Given the description of an element on the screen output the (x, y) to click on. 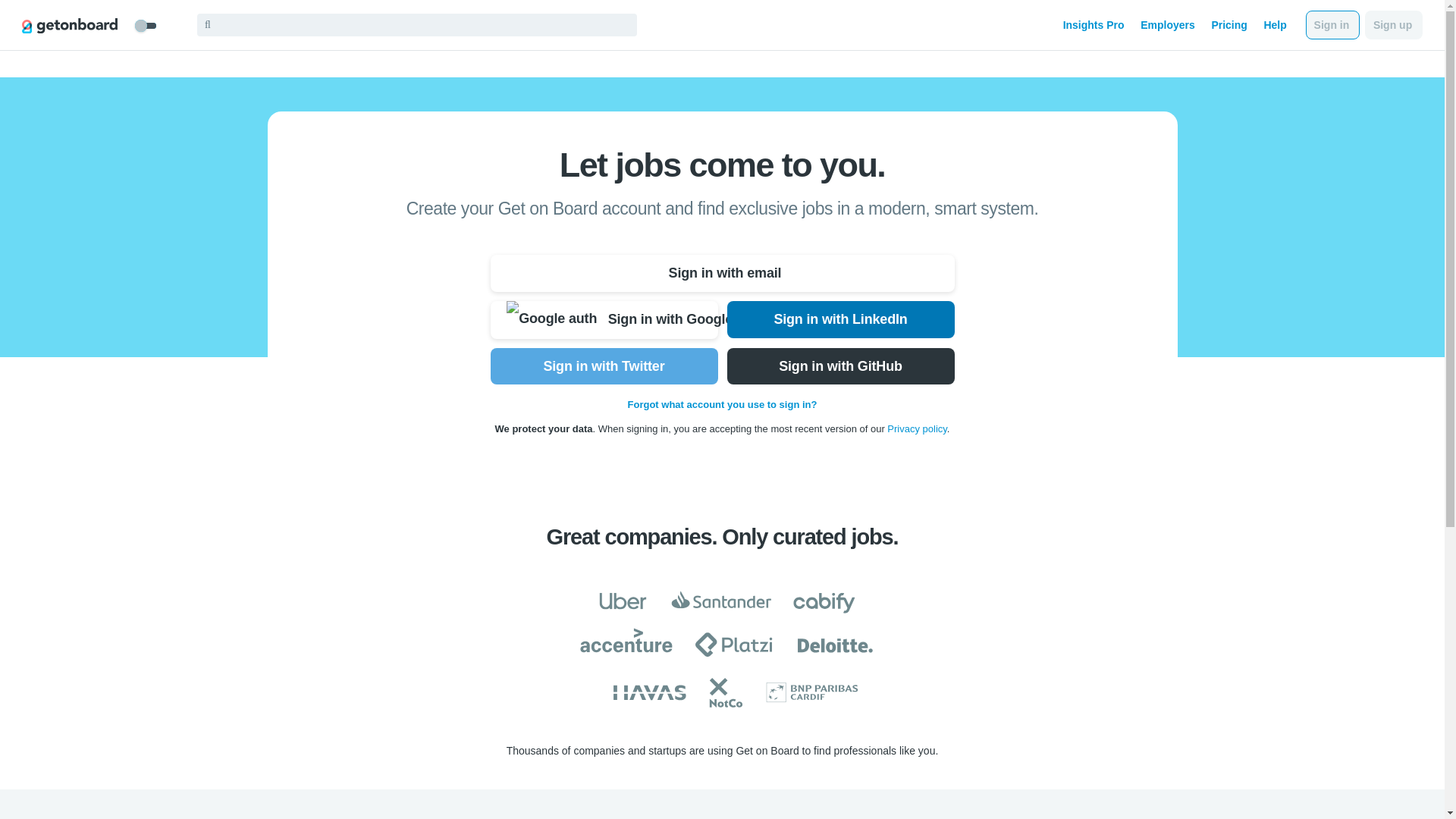
Sign in (1332, 24)
Sign in with LinkedIn (839, 319)
Help (1274, 24)
Sign in with GitHub (839, 366)
  Sign in with Google (603, 320)
Forgot what account you use to sign in? (721, 404)
Sign in with email (721, 272)
Privacy policy (916, 428)
Sign up (1393, 24)
Sign in with Twitter (603, 366)
Insights Pro (1093, 24)
Employers (1167, 24)
Pricing (1228, 24)
